Given the description of an element on the screen output the (x, y) to click on. 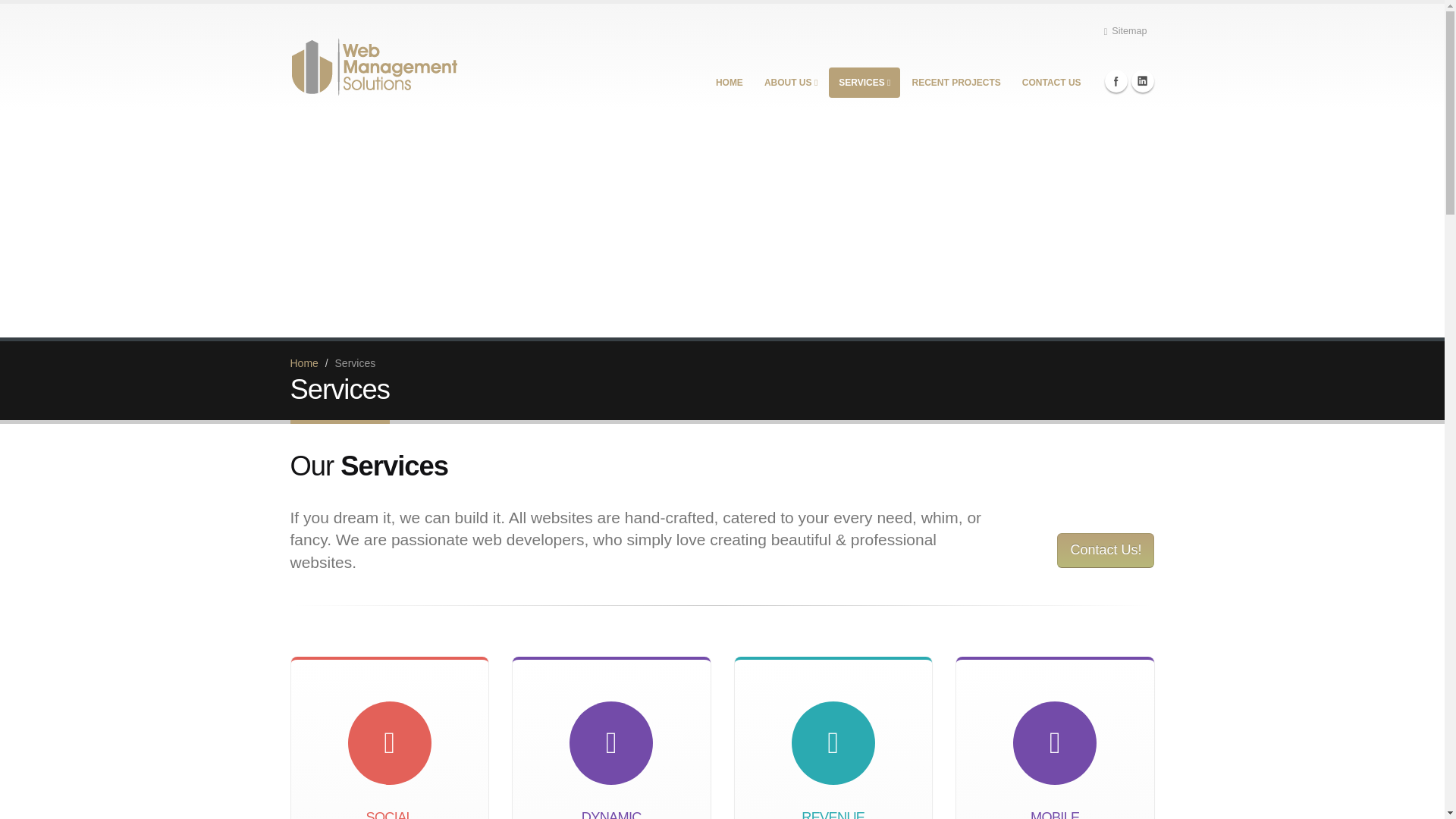
CONTACT US (1050, 82)
Web Management Solutions: Facebook Page (1115, 80)
Contact Us! (1105, 550)
Web Management Solutions: LinkedIn Page (1142, 80)
HOME (729, 82)
Facebook (1115, 80)
Linkedin (1142, 80)
Sitemap (1125, 31)
RECENT PROJECTS (955, 82)
SERVICES (863, 82)
Home (303, 363)
ABOUT US (790, 82)
